Given the description of an element on the screen output the (x, y) to click on. 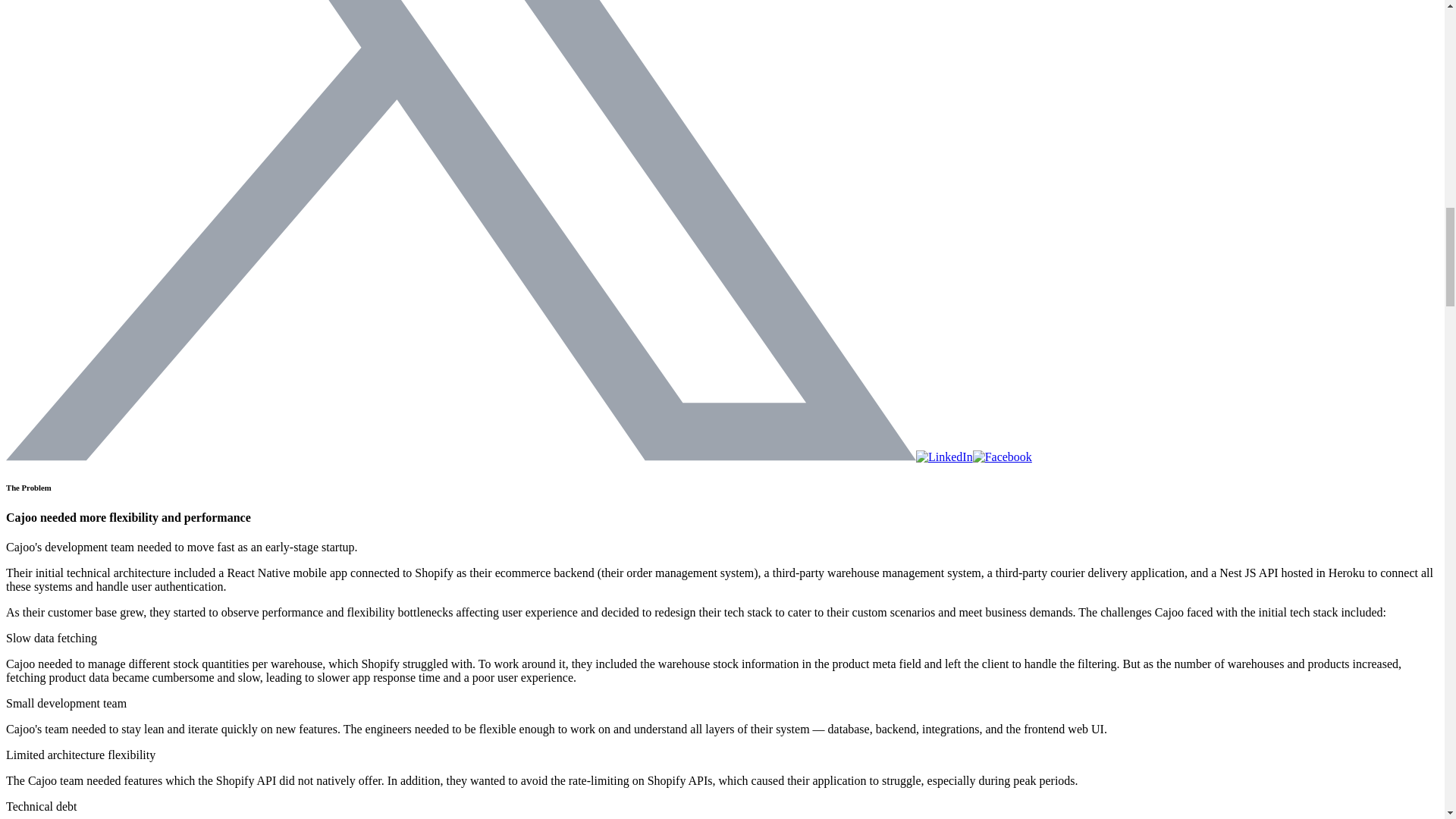
Share on Facebook (1002, 456)
